Given the description of an element on the screen output the (x, y) to click on. 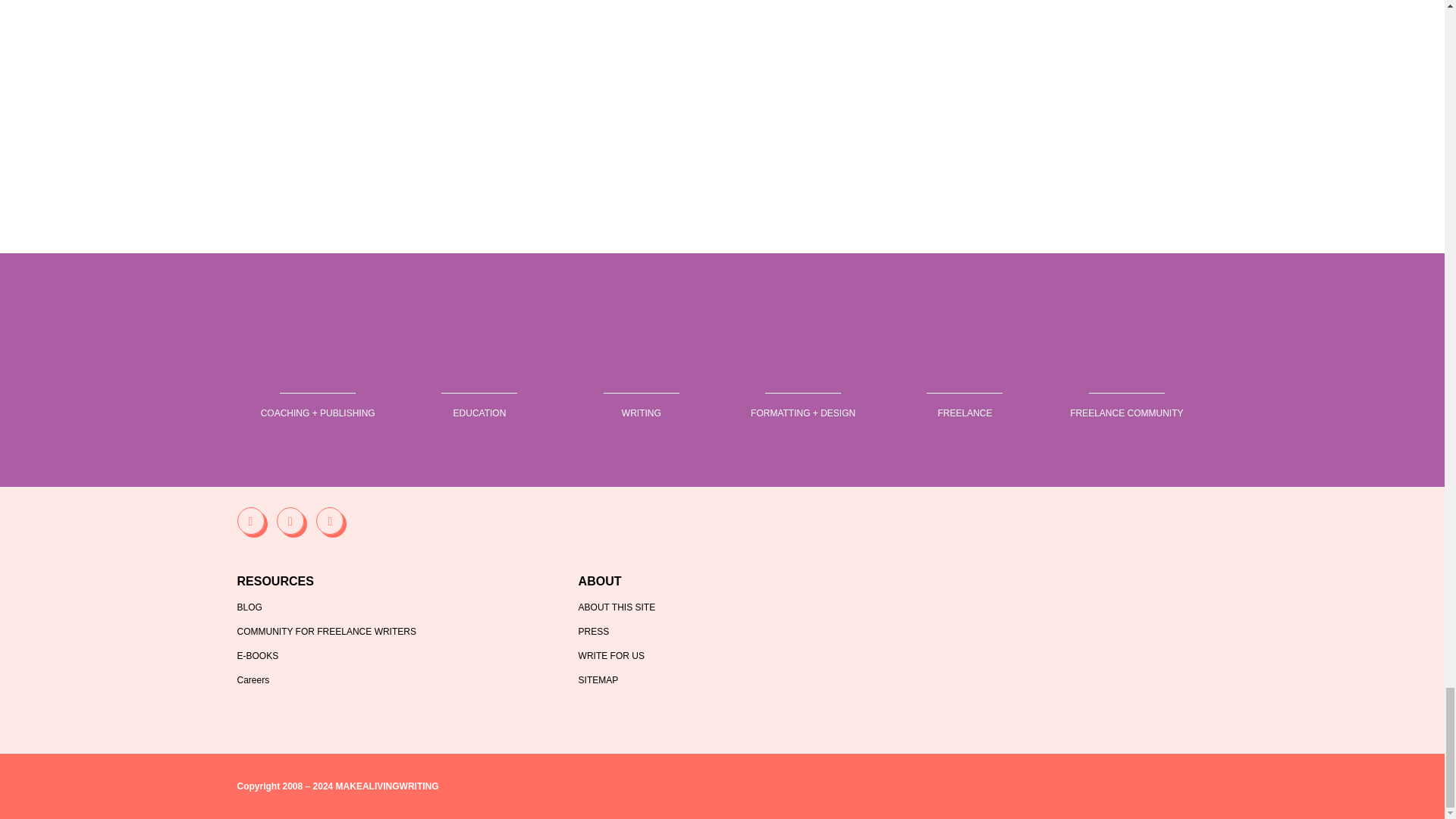
the-book-designer.png (802, 376)
self-publishing-school.png (479, 376)
self-publishing.png (317, 376)
freelance-writers-den.png (1126, 376)
make-a-living-writing.png (964, 376)
the-write-life.png (641, 376)
the-spcom-platform (721, 331)
